Given the description of an element on the screen output the (x, y) to click on. 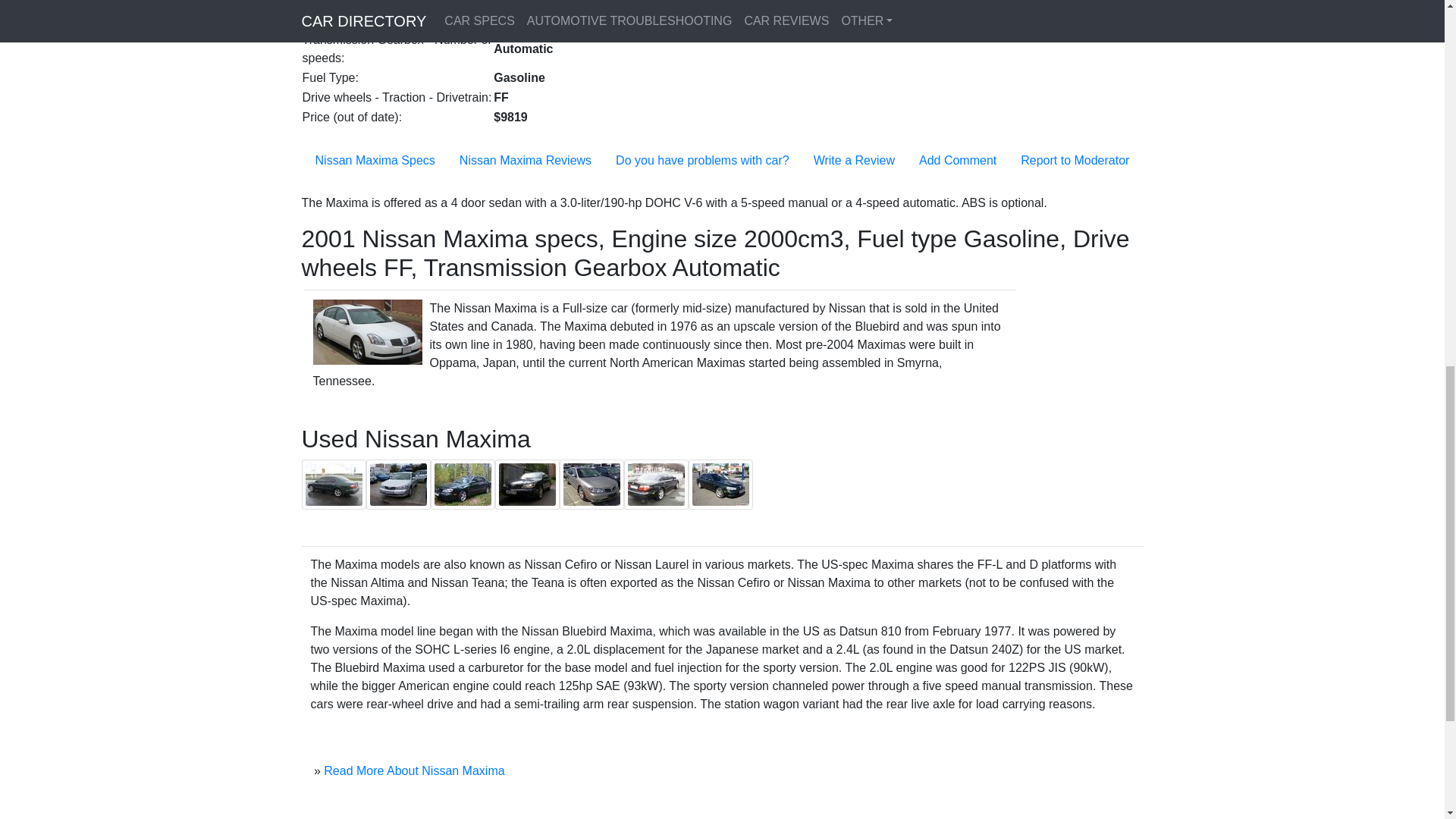
Nissan Maxima Reviews (525, 160)
The full specification on the Nissan Maxima (375, 160)
Write a Review (854, 160)
Nissan Maxima Specs (375, 160)
Report to Moderator (1074, 160)
Read More About Nissan Maxima (413, 770)
Add Comment (956, 160)
Do you have problems with car? (702, 160)
